Given the description of an element on the screen output the (x, y) to click on. 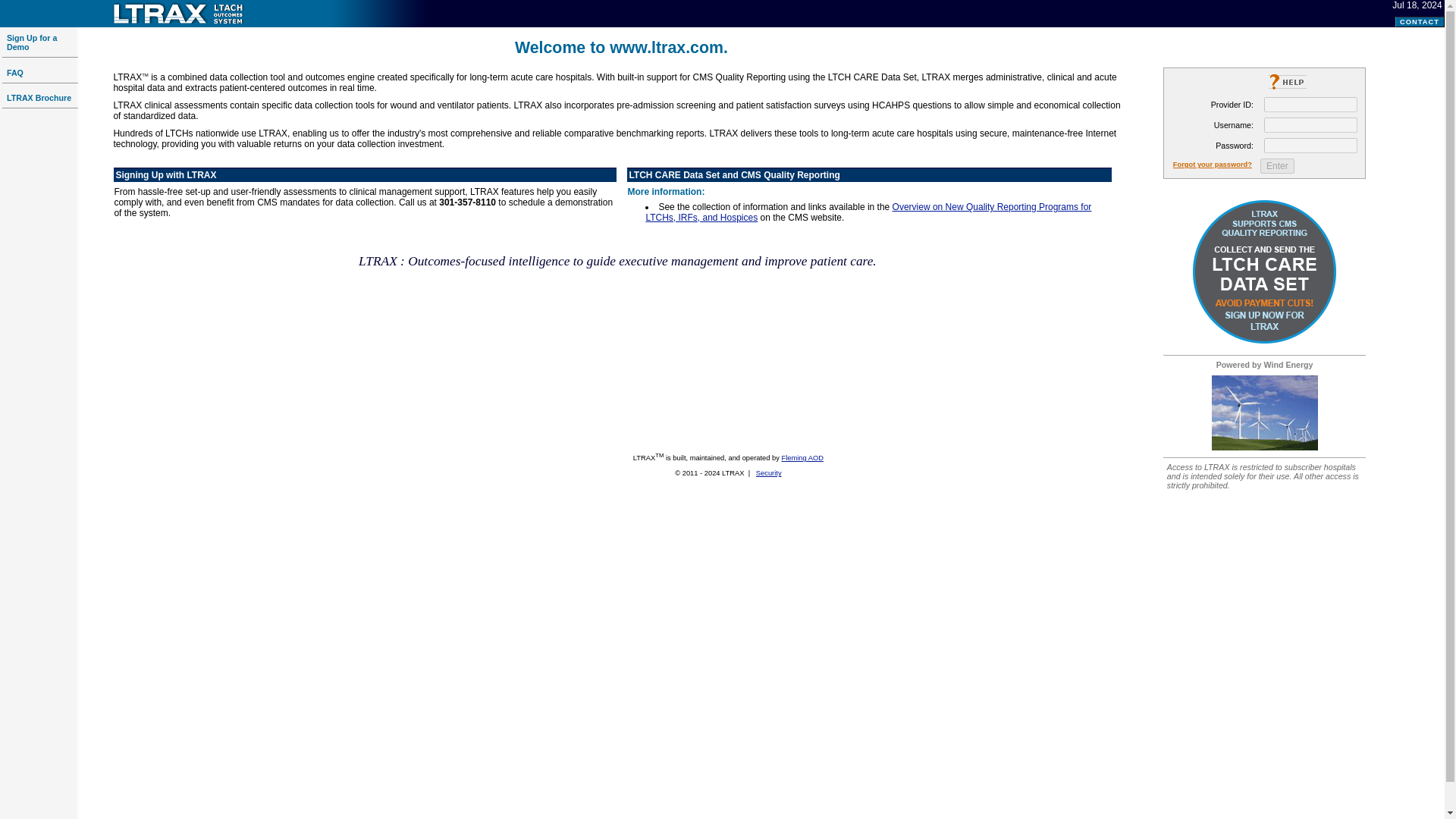
Security (768, 472)
Sign Up for a Demo (31, 42)
Forgot your password? (1212, 164)
LTRAX Brochure (39, 97)
Enter (1277, 165)
FAQ (15, 71)
Fleming AOD (801, 457)
